Given the description of an element on the screen output the (x, y) to click on. 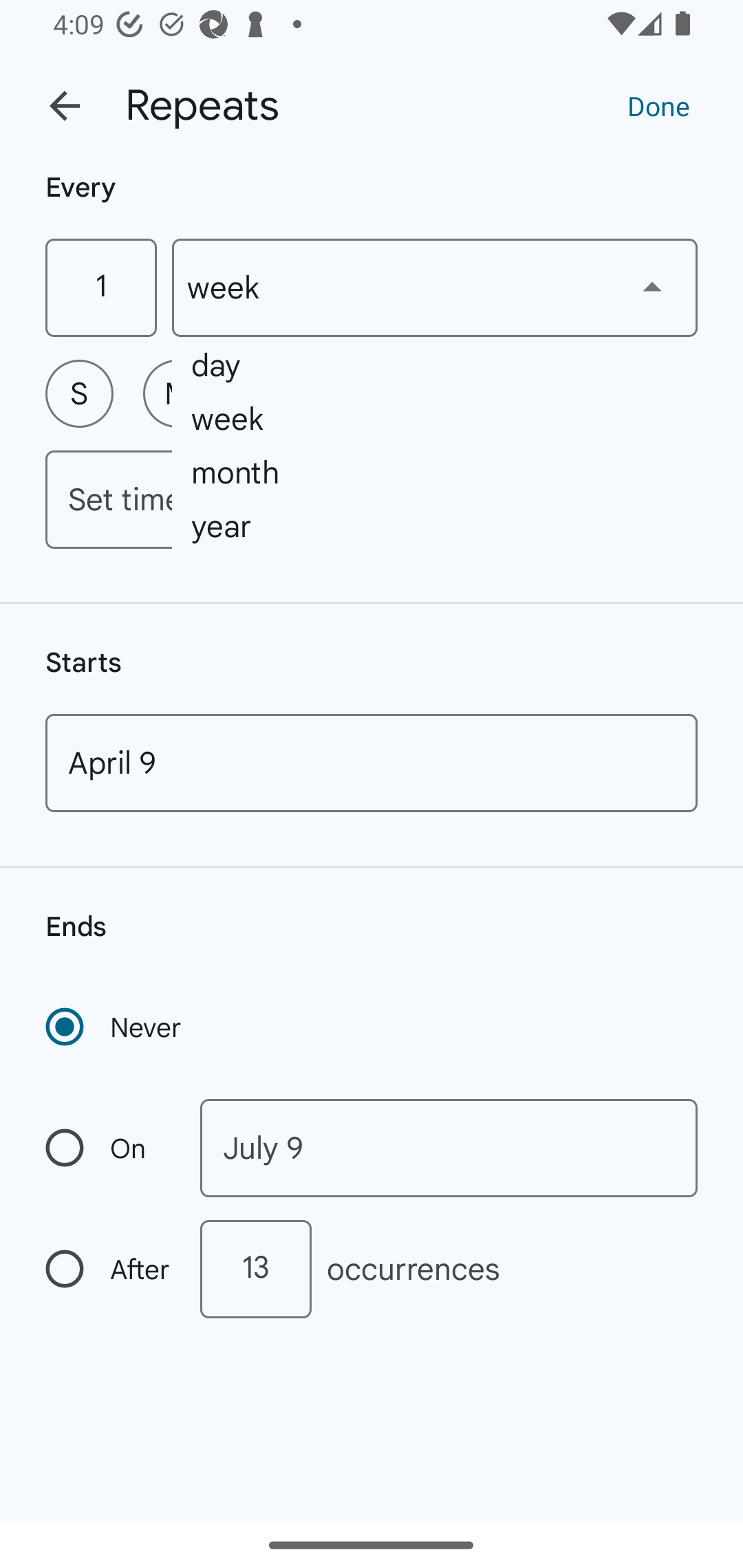
Back (64, 105)
Done (658, 105)
1 (100, 287)
week (434, 287)
Show dropdown menu (652, 286)
S Sunday (79, 393)
Set time (371, 499)
April 9 (371, 762)
Never Recurrence never ends (115, 1026)
July 9 (448, 1148)
On Recurrence ends on a specific date (109, 1148)
13 (255, 1268)
